Given the description of an element on the screen output the (x, y) to click on. 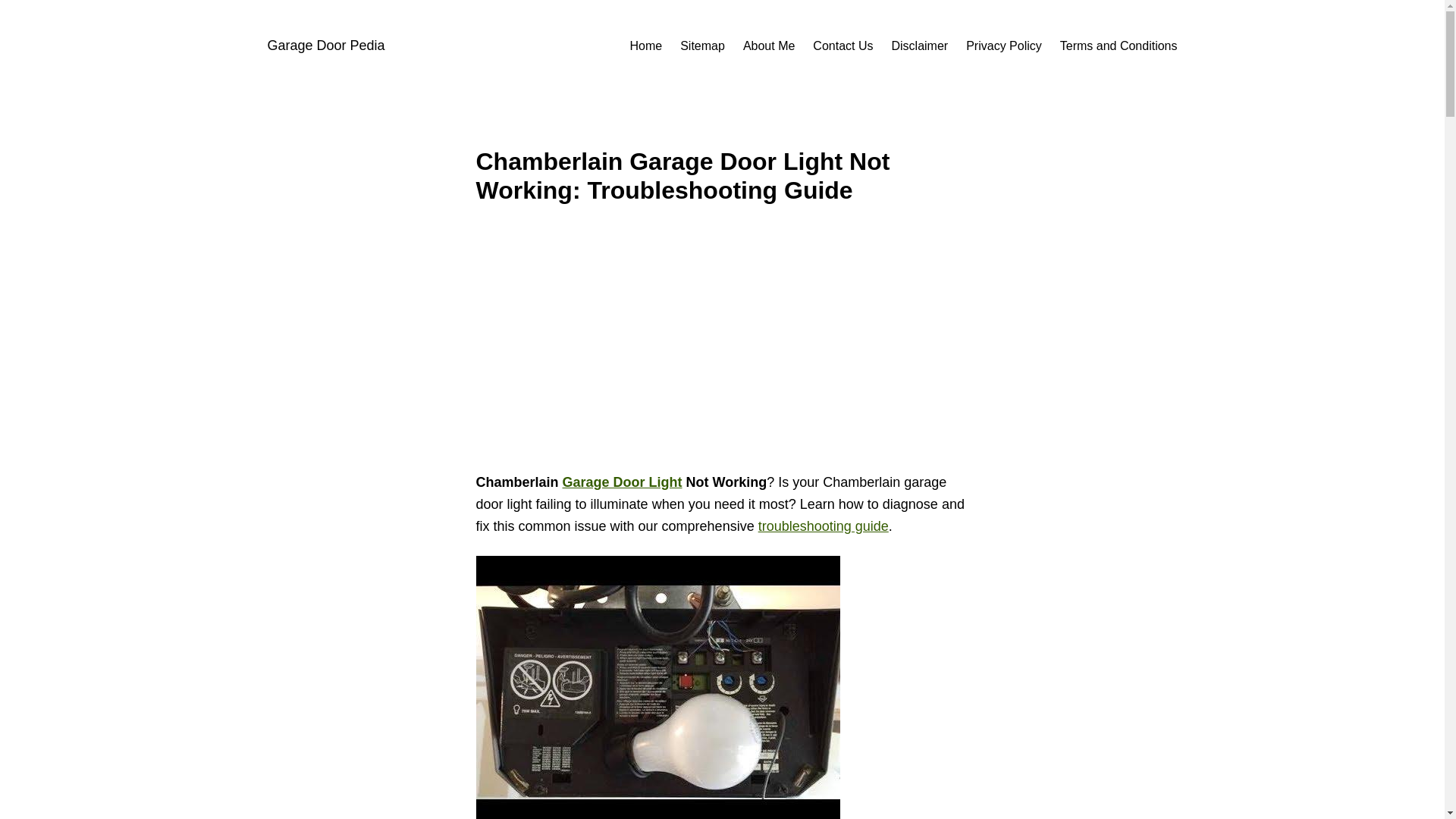
Advertisement (722, 346)
Contact Us (842, 46)
Home (645, 46)
Privacy Policy (1004, 46)
Terms and Conditions (1118, 46)
About Me (768, 46)
Garage Door Light (622, 482)
Garage Door Pedia (325, 45)
Disclaimer (920, 46)
Sitemap (702, 46)
